Given the description of an element on the screen output the (x, y) to click on. 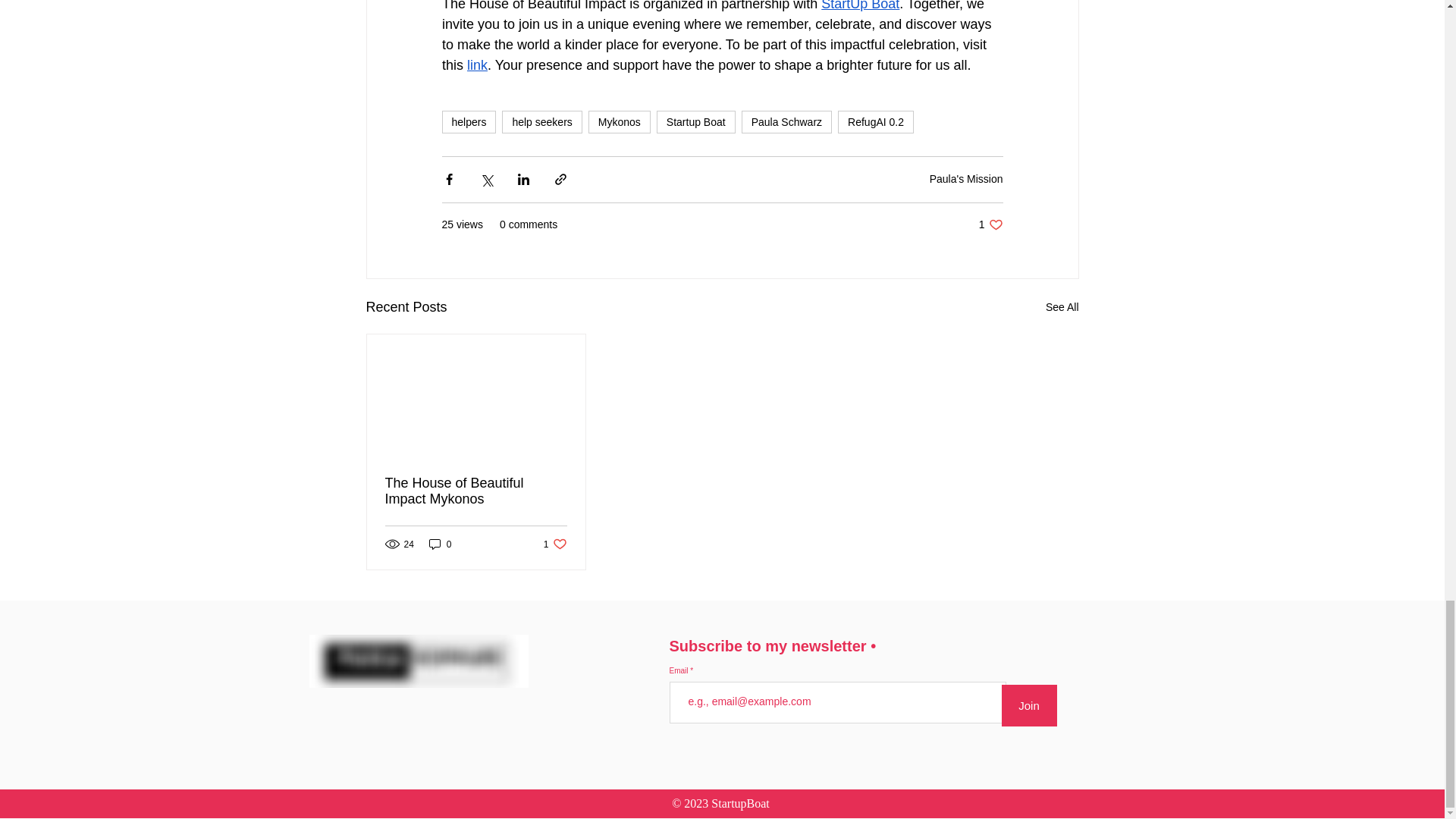
Paula Schwarz (786, 121)
See All (1061, 307)
Mykonos (619, 121)
RefugAI 0.2 (876, 121)
help seekers (541, 121)
Paula's Mission (966, 178)
StartUp Boat (990, 224)
helpers (860, 5)
Startup Boat (468, 121)
link (695, 121)
